Given the description of an element on the screen output the (x, y) to click on. 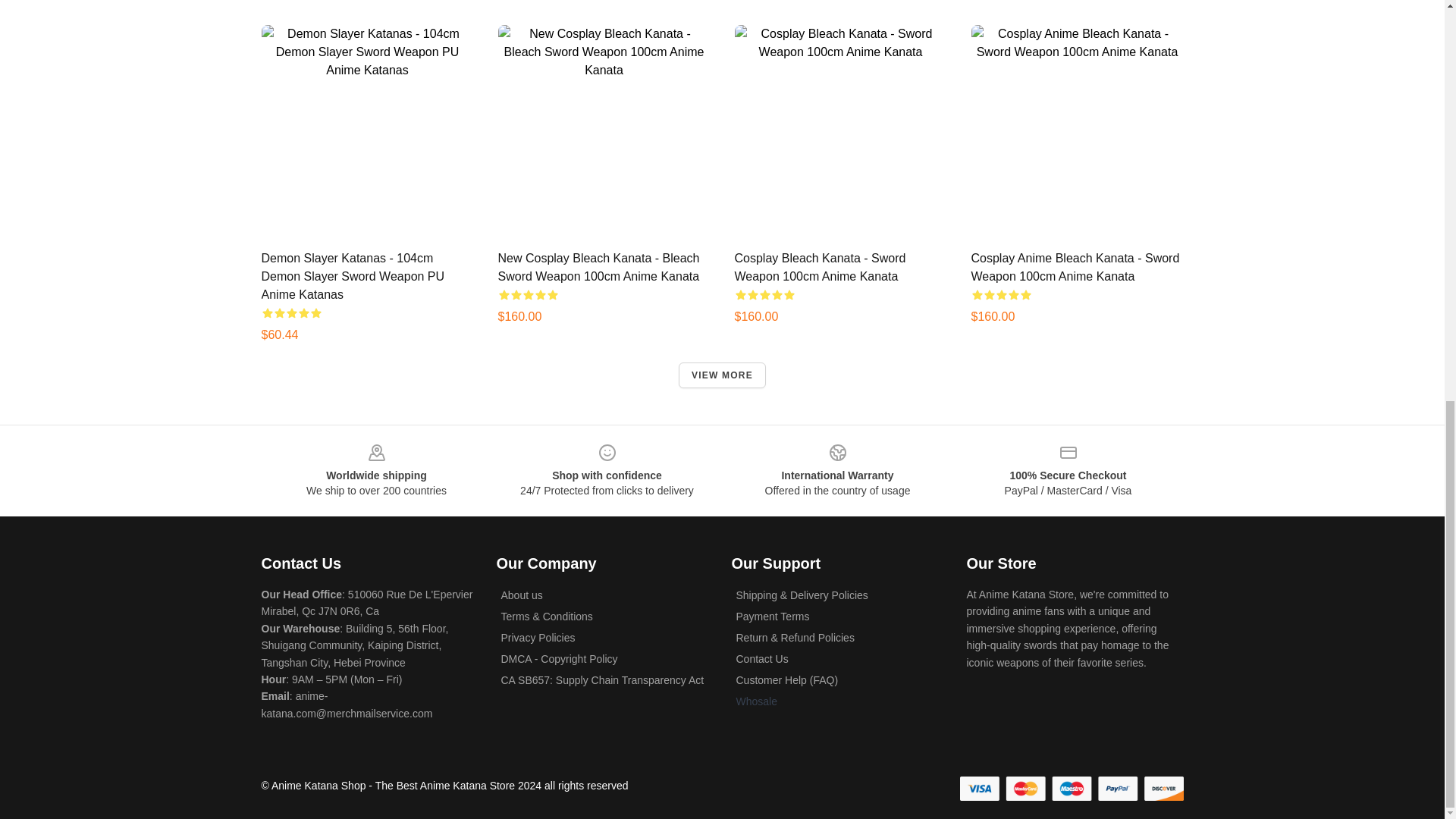
Cosplay Bleach Kanata - Sword Weapon 100cm Anime Kanata (819, 266)
